Given the description of an element on the screen output the (x, y) to click on. 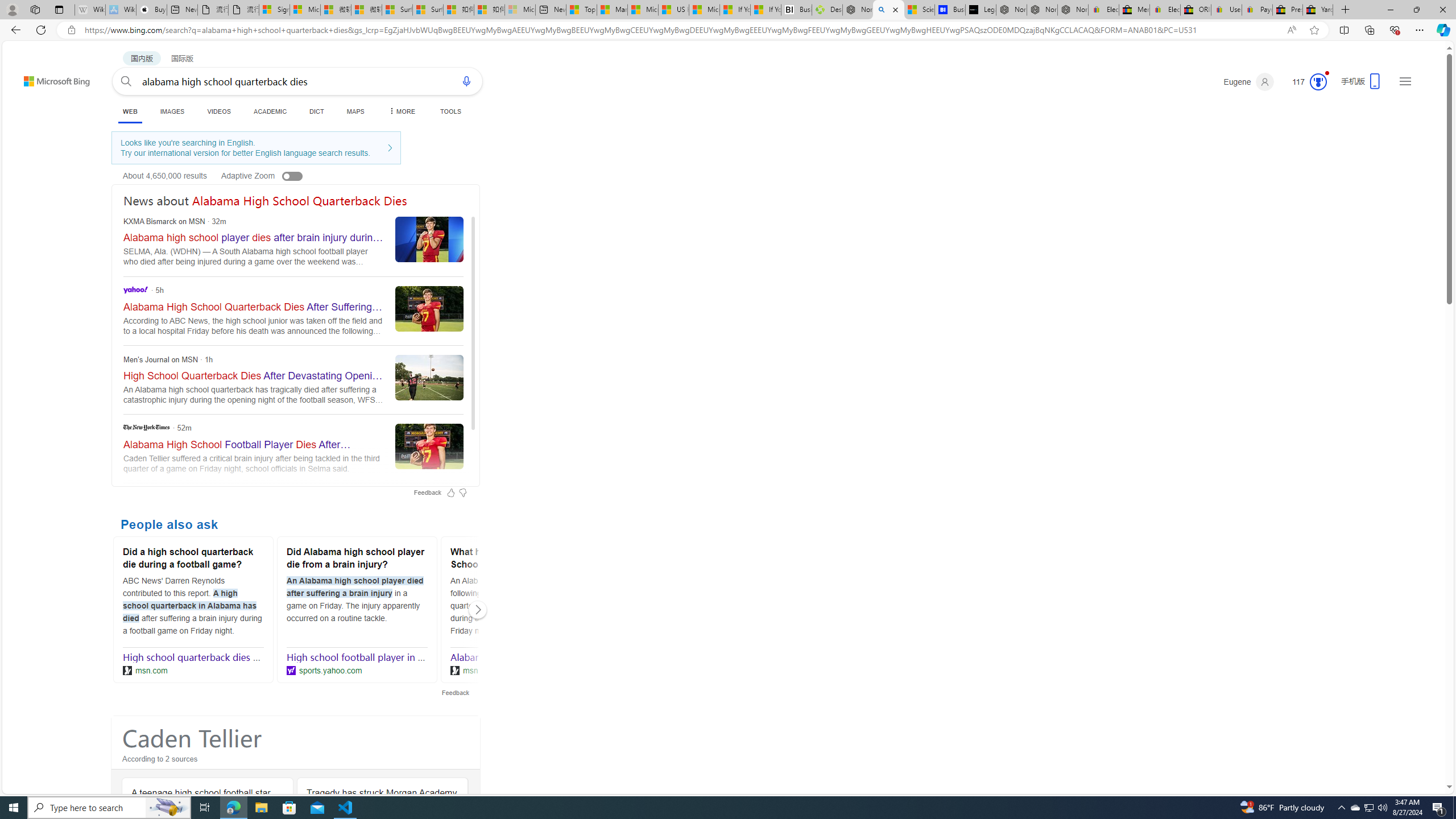
Class: medal-svg-animation (1317, 81)
Search button (126, 80)
WEB (129, 111)
Yahoo (135, 289)
MAPS (355, 111)
